Given the description of an element on the screen output the (x, y) to click on. 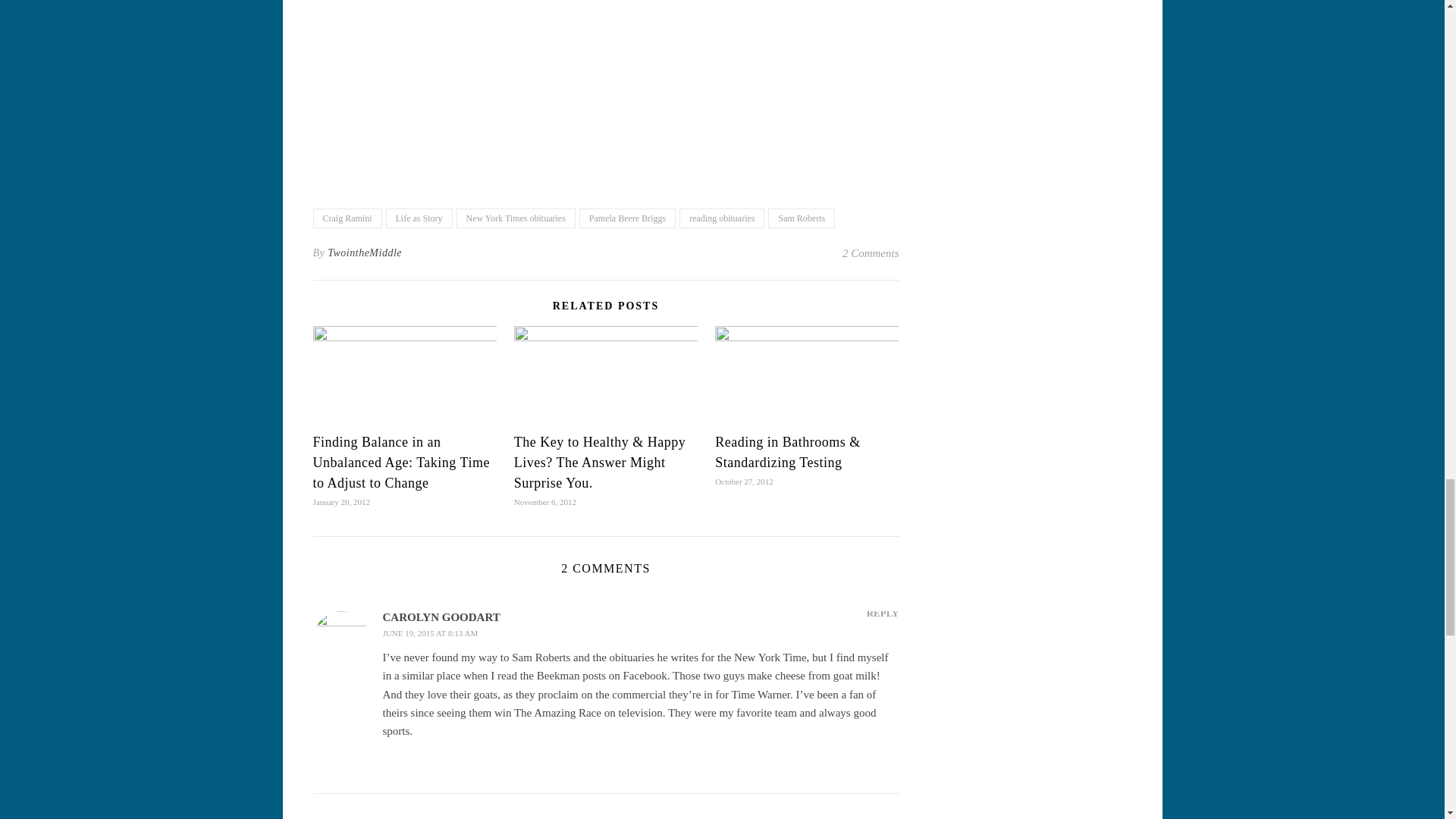
New York Times obituaries (516, 218)
2 Comments (871, 252)
Craig Ramini (347, 218)
Life as Story (418, 218)
Posts by TwointheMiddle (364, 252)
Pamela Beere Briggs (627, 218)
REPLY (882, 612)
reading obituaries (721, 218)
TwointheMiddle (364, 252)
REPLY (882, 817)
